Given the description of an element on the screen output the (x, y) to click on. 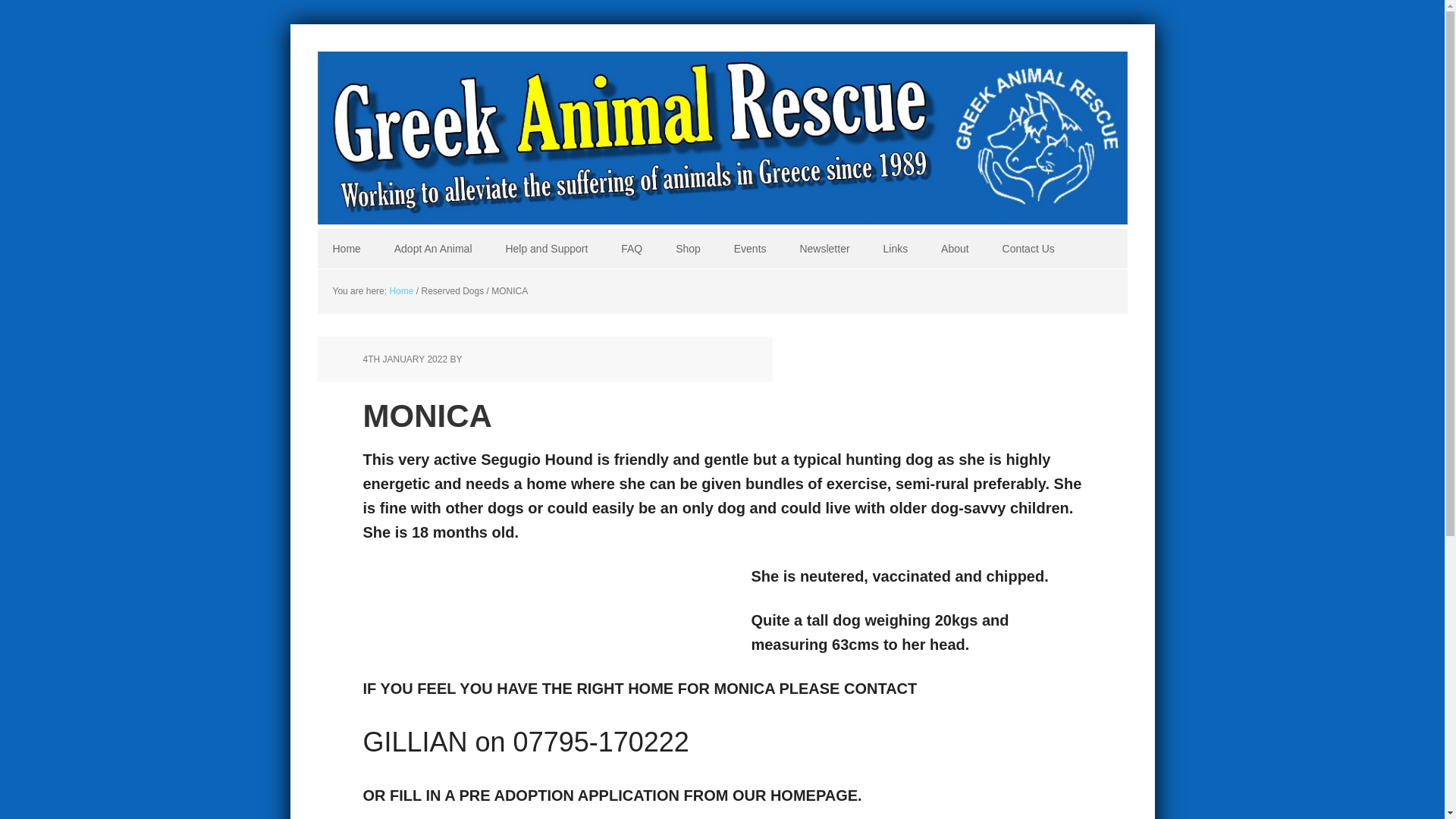
Newsletter (824, 249)
Adopt An Animal (432, 249)
Home (400, 290)
Links (895, 249)
Home (346, 249)
Events (750, 249)
Contact Us (1028, 249)
Shop (688, 249)
Help and Support (545, 249)
